Given the description of an element on the screen output the (x, y) to click on. 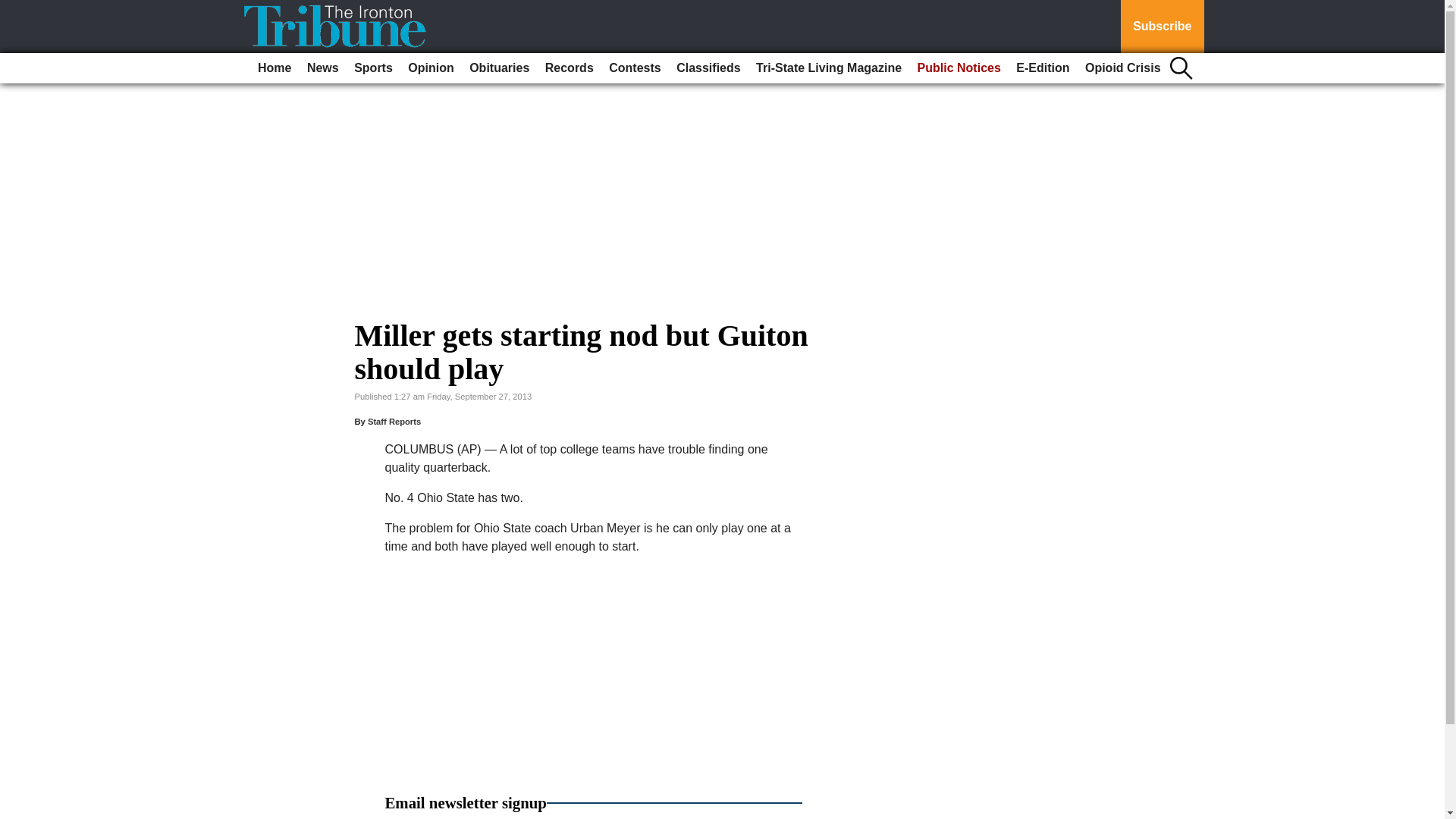
Obituaries (499, 68)
Opinion (430, 68)
Sports (372, 68)
Subscribe (1162, 26)
Public Notices (959, 68)
Contests (634, 68)
Home (274, 68)
Tri-State Living Magazine (828, 68)
Go (13, 9)
Classifieds (707, 68)
